Given the description of an element on the screen output the (x, y) to click on. 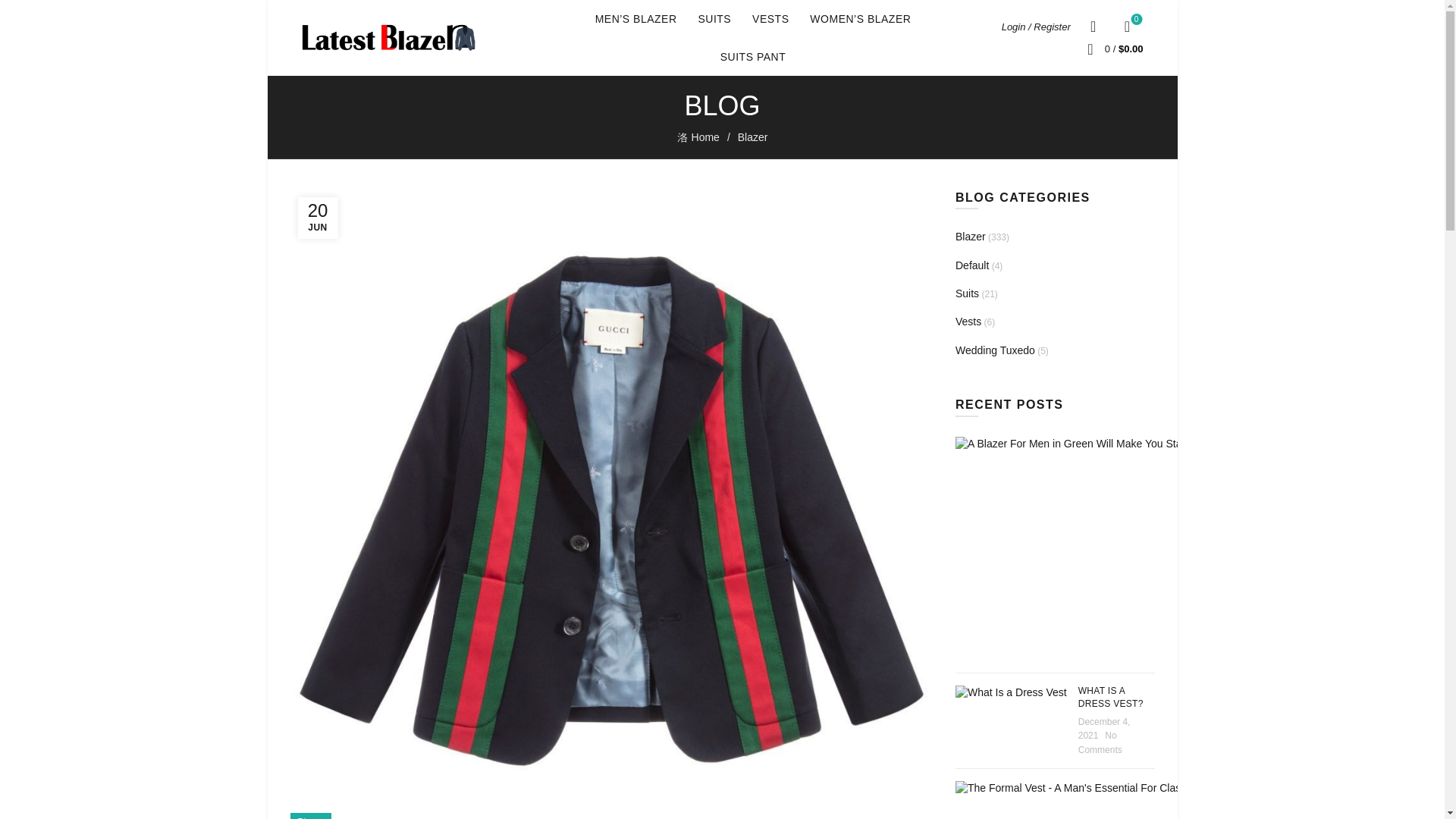
SUITS (714, 18)
Blazer (753, 137)
SUITS PANT (1127, 26)
Blazer (752, 56)
Home (310, 816)
VESTS (707, 137)
